Given the description of an element on the screen output the (x, y) to click on. 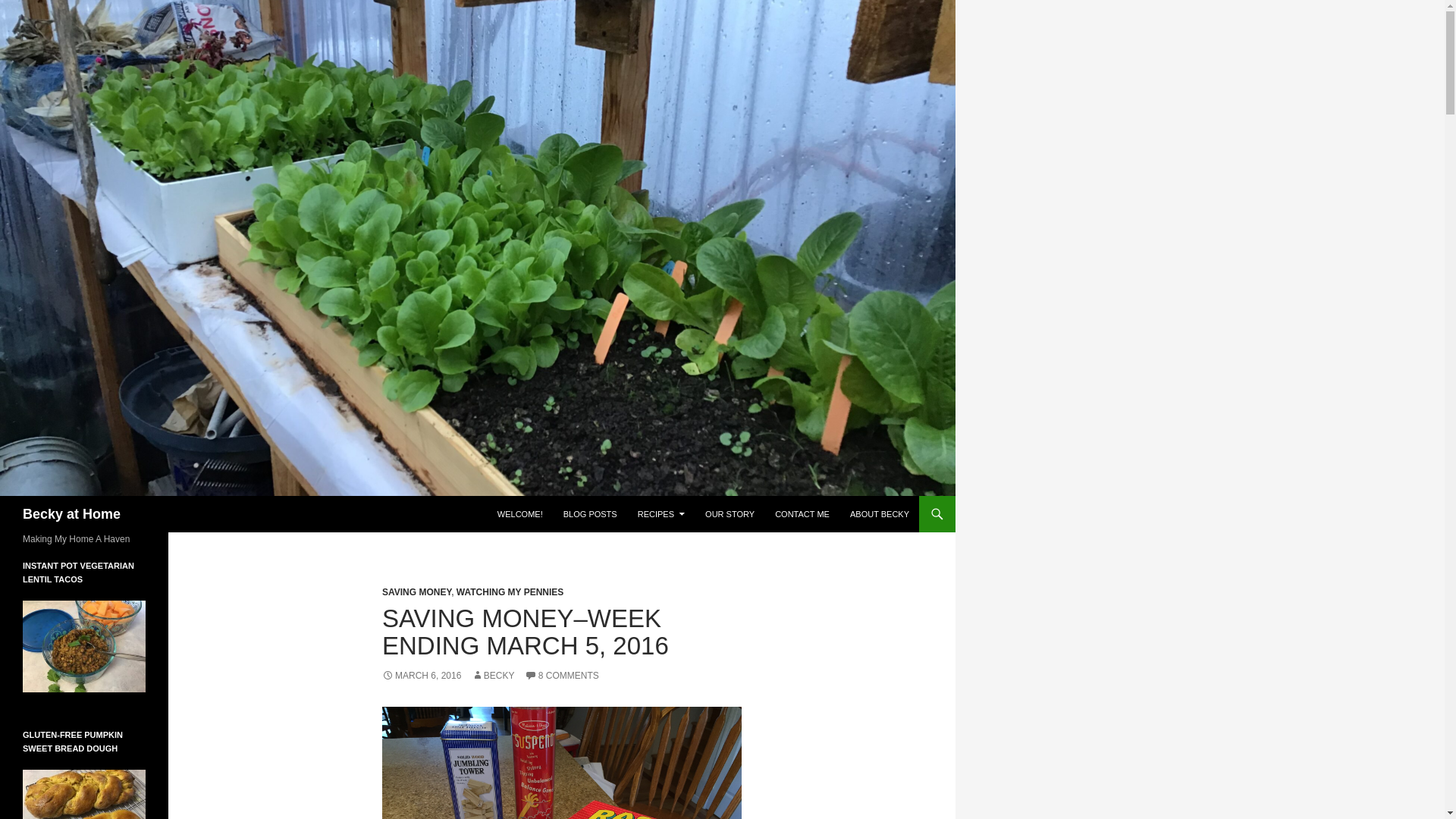
WATCHING MY PENNIES (510, 592)
SAVING MONEY (416, 592)
BLOG POSTS (590, 514)
MARCH 6, 2016 (421, 675)
8 COMMENTS (561, 675)
CONTACT ME (801, 514)
OUR STORY (728, 514)
BECKY (493, 675)
RECIPES (661, 514)
